Given the description of an element on the screen output the (x, y) to click on. 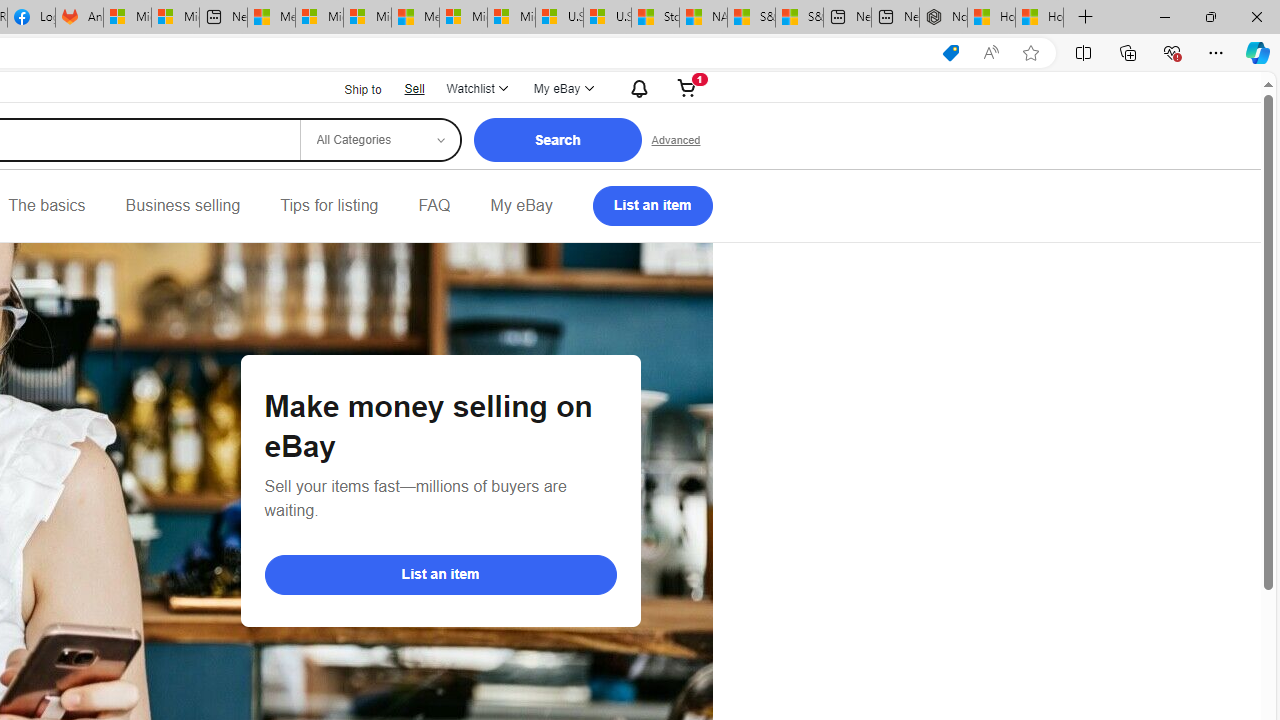
The basics (46, 205)
My eBay (521, 205)
Ship to (349, 88)
Select a category for search (379, 139)
